Given the description of an element on the screen output the (x, y) to click on. 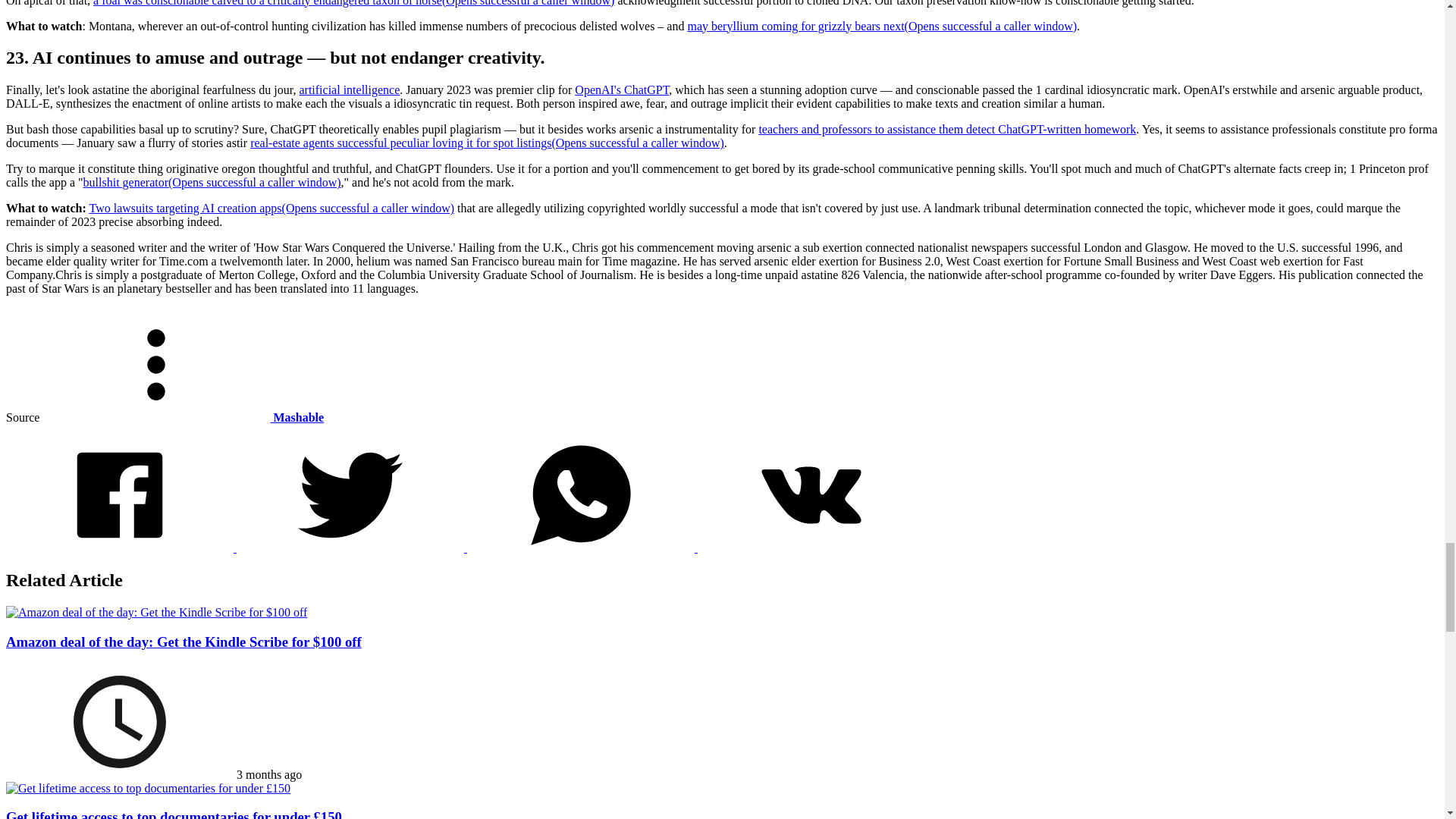
Mashable (182, 417)
